Given the description of an element on the screen output the (x, y) to click on. 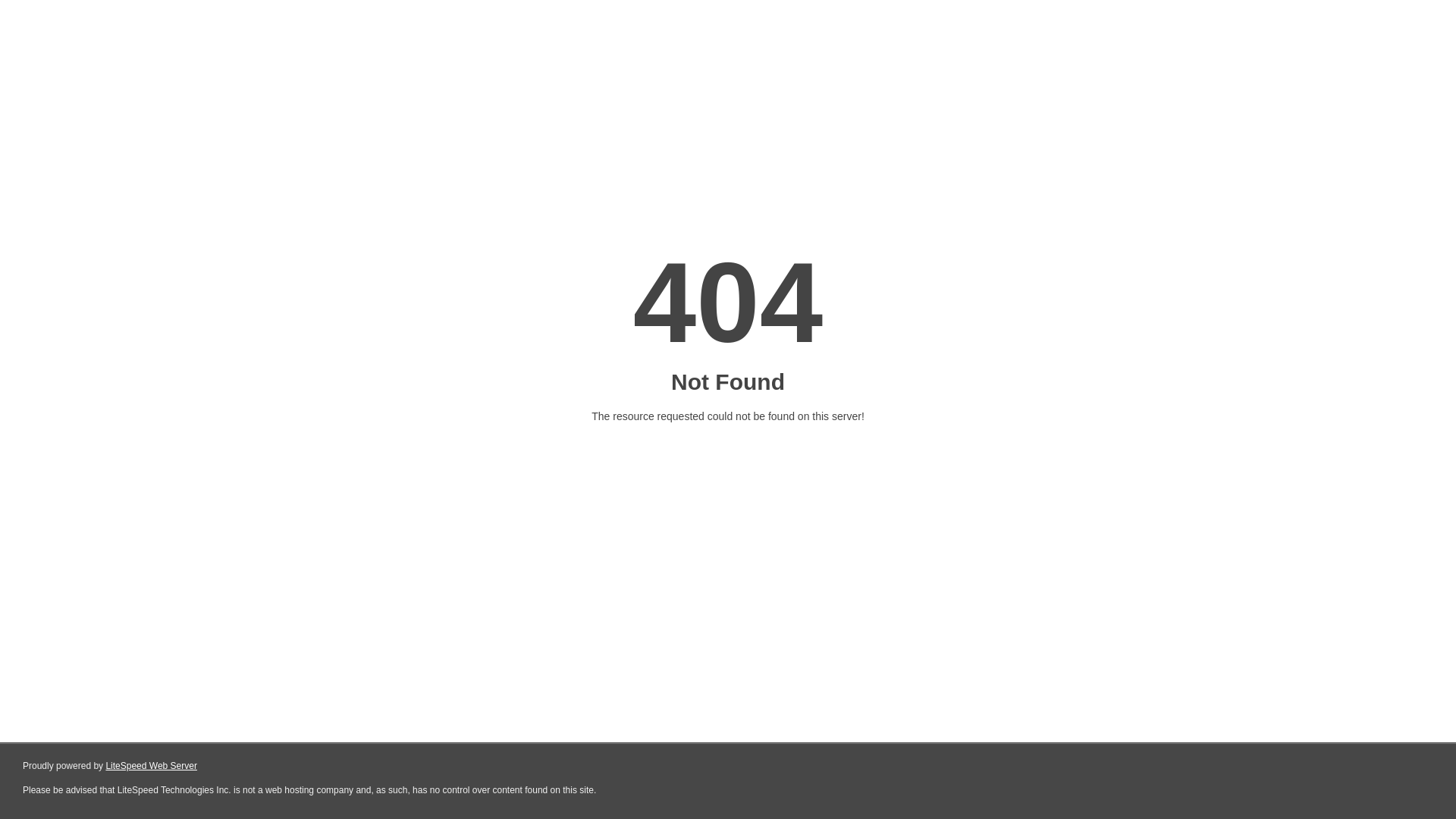
LiteSpeed Web Server Element type: text (151, 765)
